Given the description of an element on the screen output the (x, y) to click on. 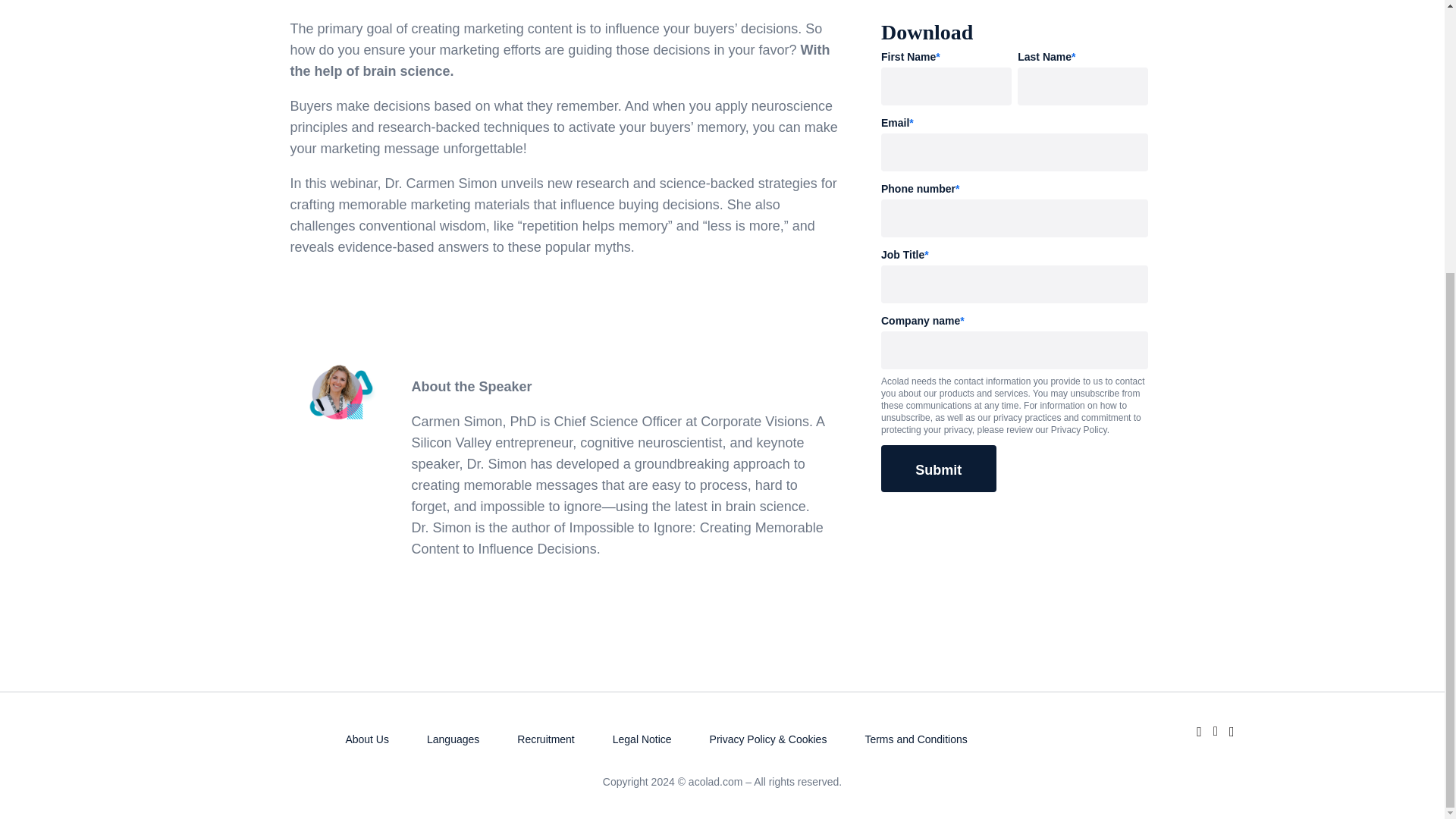
Legal Notice (641, 738)
Logo Acolad (267, 734)
Recruitment (544, 738)
About Us (366, 738)
Submit (937, 470)
Languages (452, 738)
Submit (937, 470)
Terms and Conditions (915, 738)
